Given the description of an element on the screen output the (x, y) to click on. 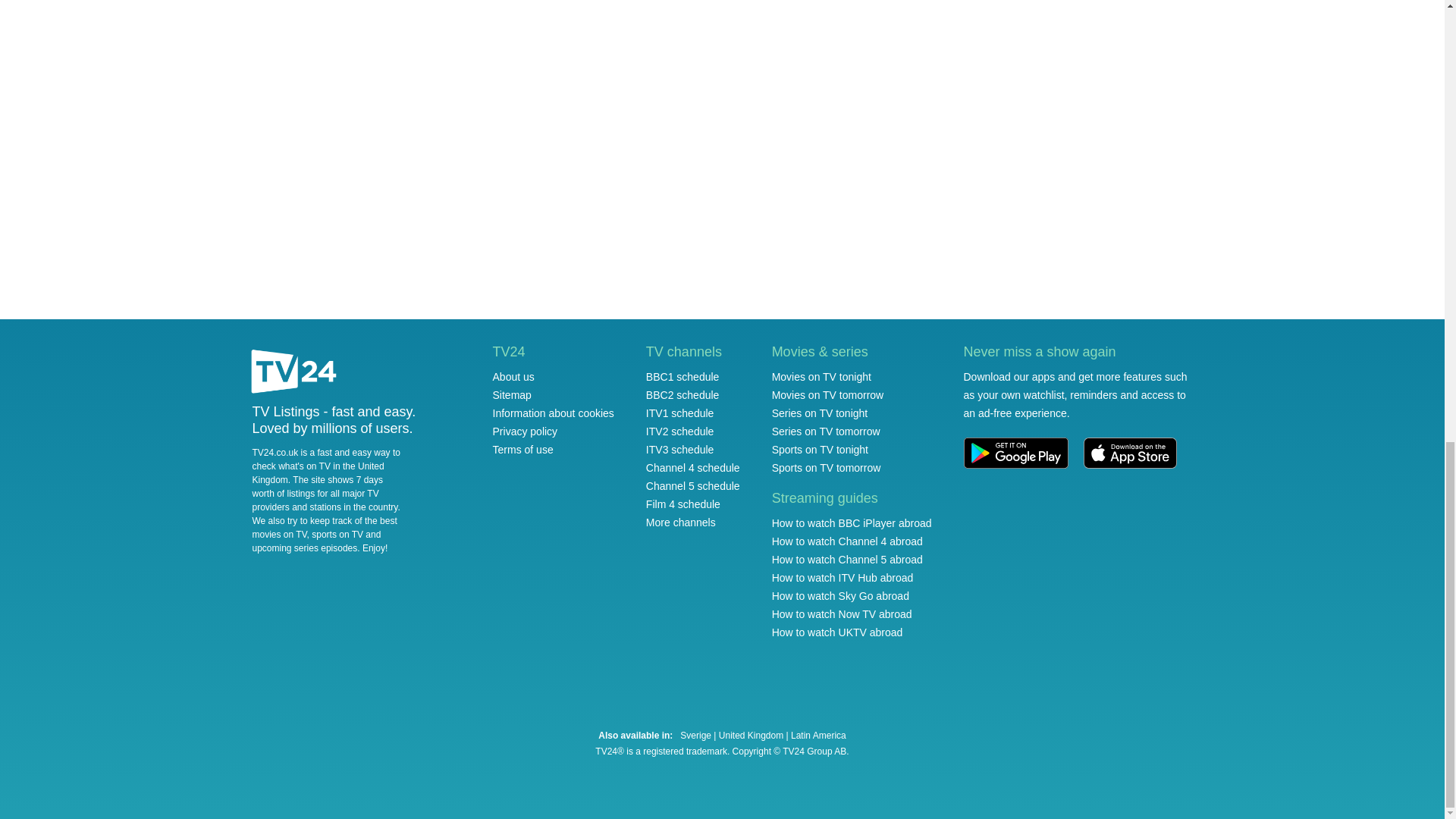
ITV3 schedule (680, 449)
ITV2 schedule (680, 431)
BBC1 schedule (682, 377)
Information about cookies (553, 413)
sports on TV (336, 534)
upcoming series episodes (303, 547)
Channel 5 schedule (692, 485)
Channel 5 schedule (692, 485)
About us (513, 377)
More channels (681, 522)
ITV2 schedule (680, 431)
BBC2 schedule (682, 395)
ITV1 schedule (680, 413)
BBC1 schedule (682, 377)
ITV3 schedule (680, 449)
